Given the description of an element on the screen output the (x, y) to click on. 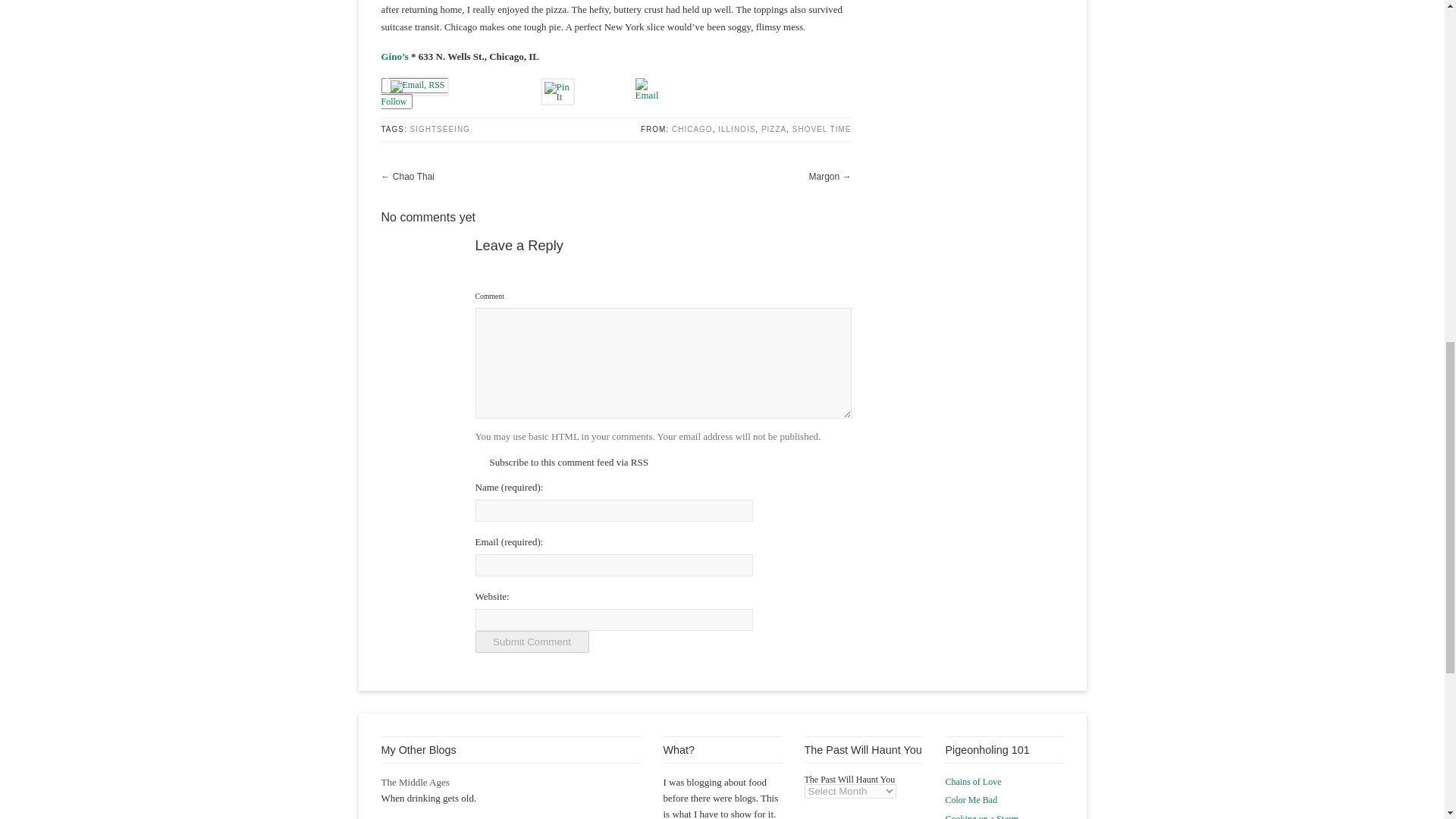
Email, RSS (417, 86)
Share on Tumblr (605, 85)
Email (646, 88)
Submit Comment (531, 641)
